Given the description of an element on the screen output the (x, y) to click on. 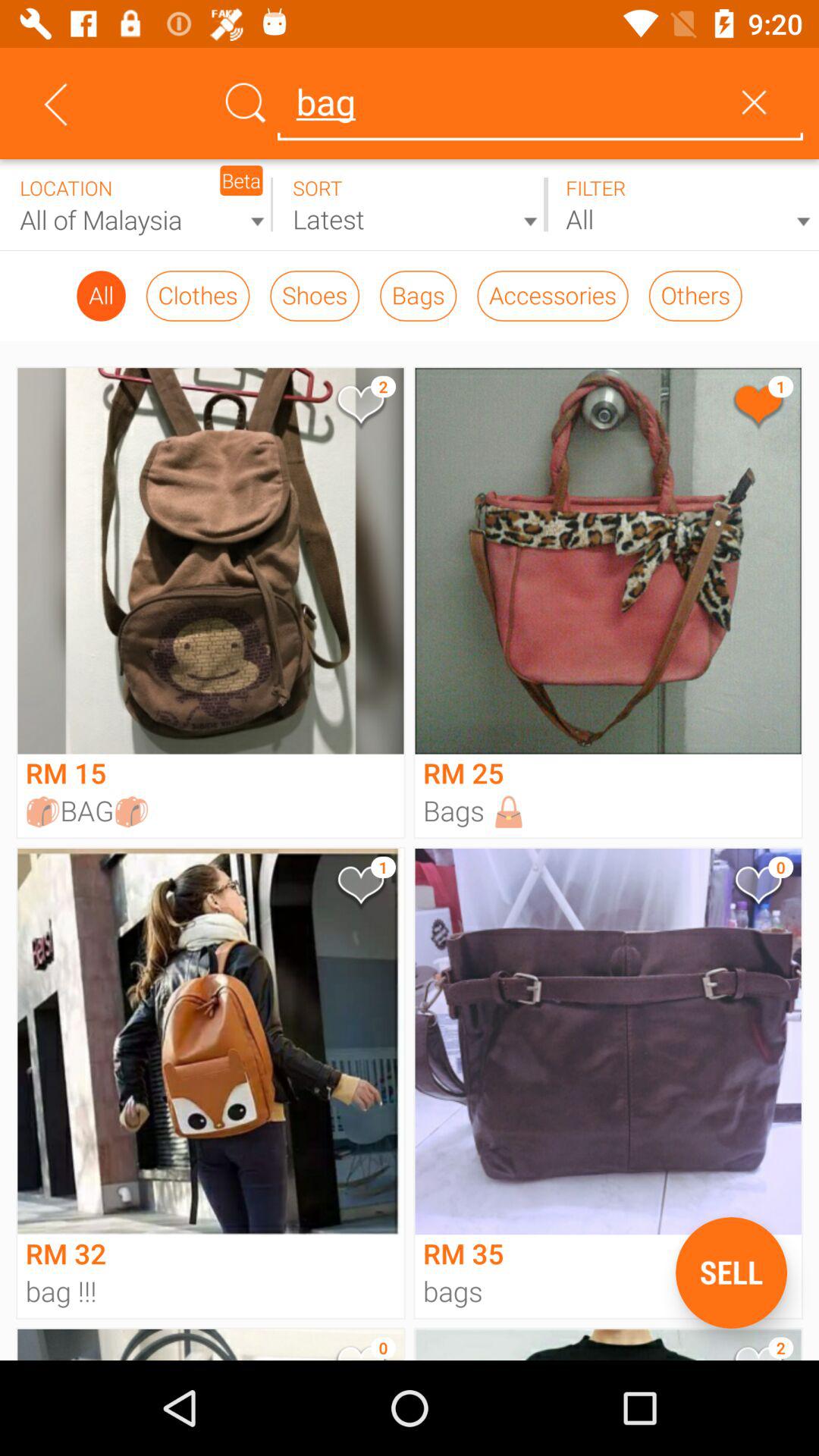
the button allows user to like a product and also shows how many people liked that product (757, 407)
